Given the description of an element on the screen output the (x, y) to click on. 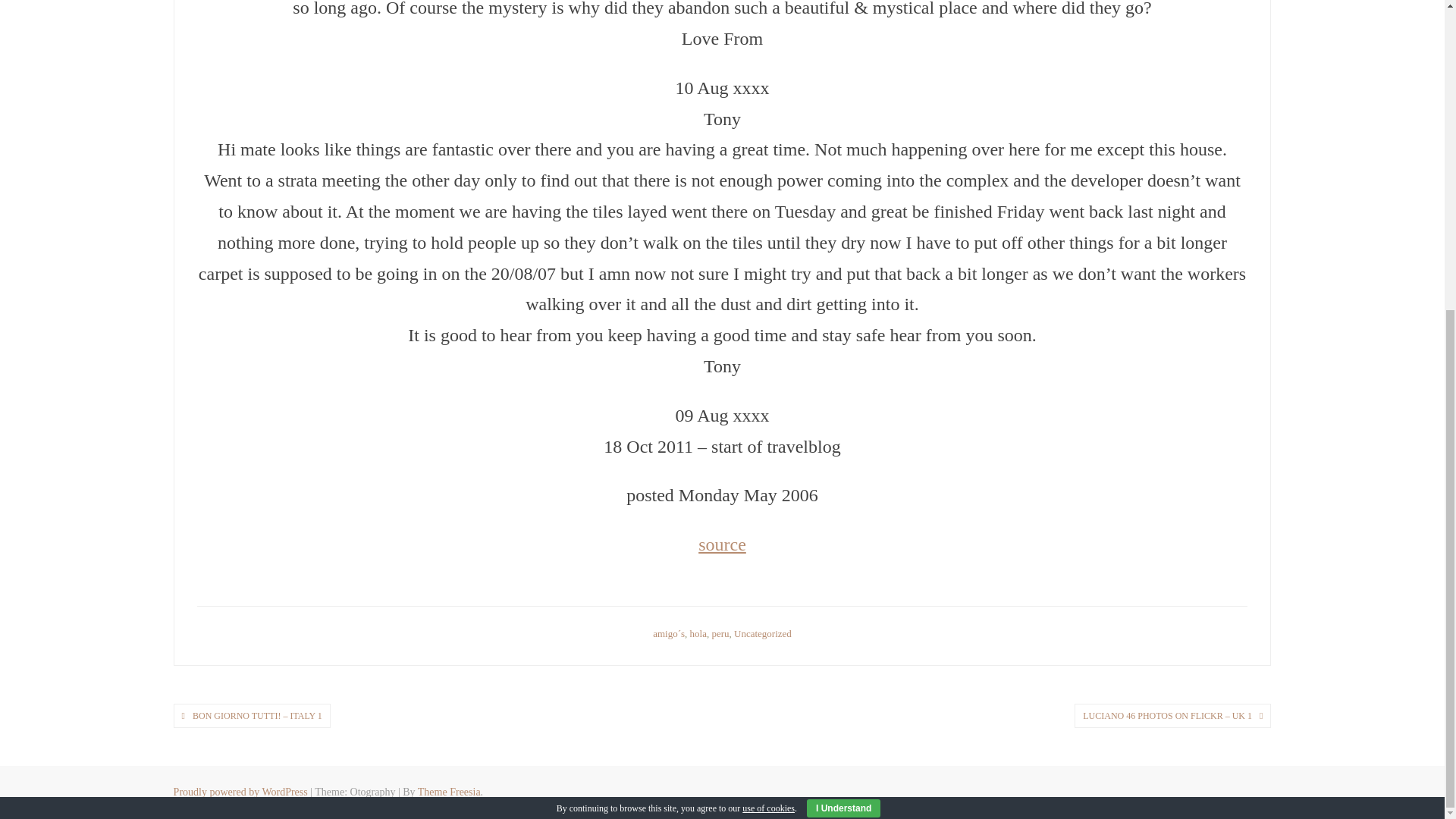
hola (698, 633)
Uncategorized (762, 633)
I Understand (843, 316)
source (721, 544)
Theme Freesia (448, 791)
Proudly powered by WordPress (240, 791)
peru (720, 633)
use of cookies (768, 317)
